Given the description of an element on the screen output the (x, y) to click on. 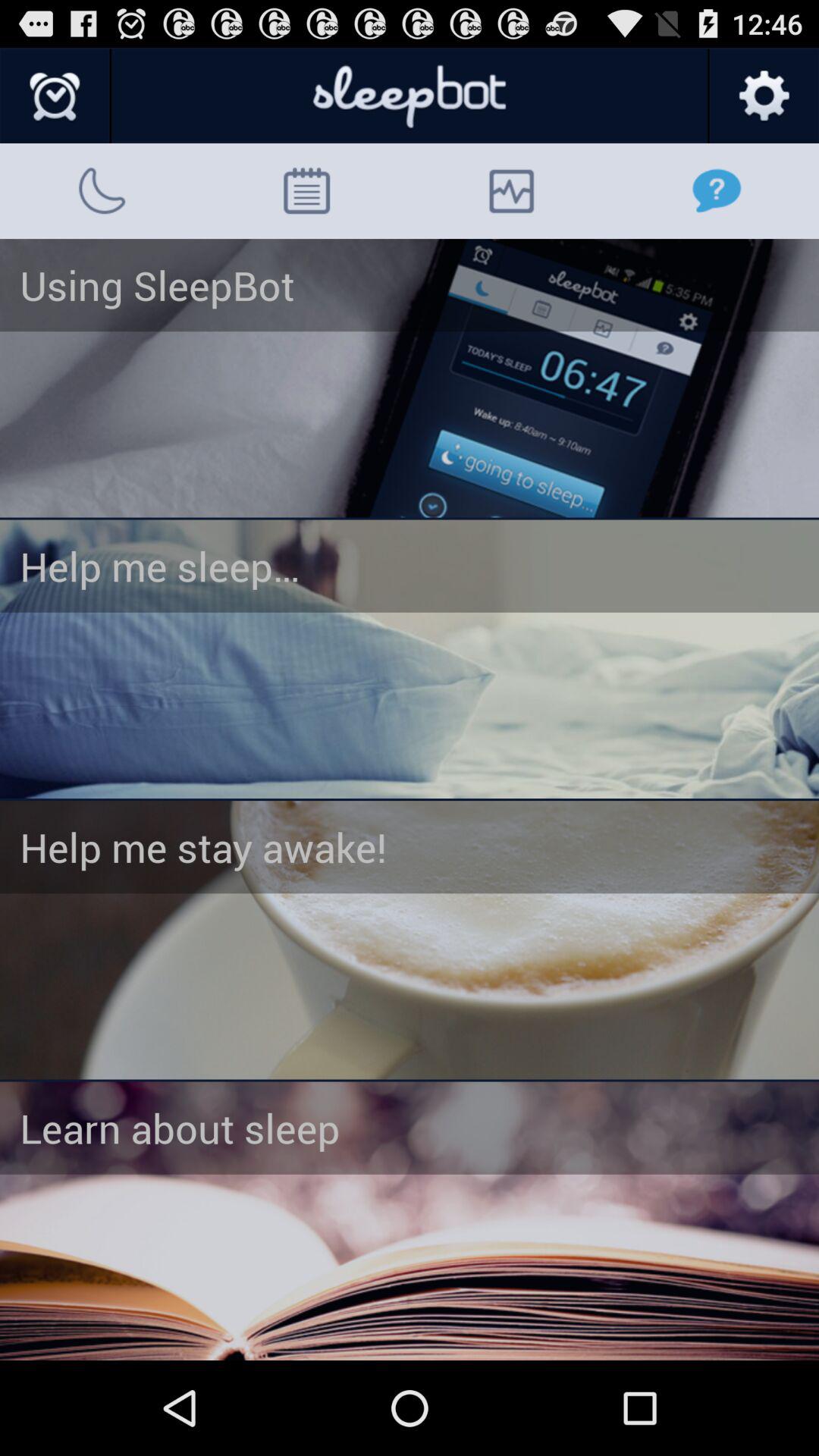
select option (409, 658)
